Given the description of an element on the screen output the (x, y) to click on. 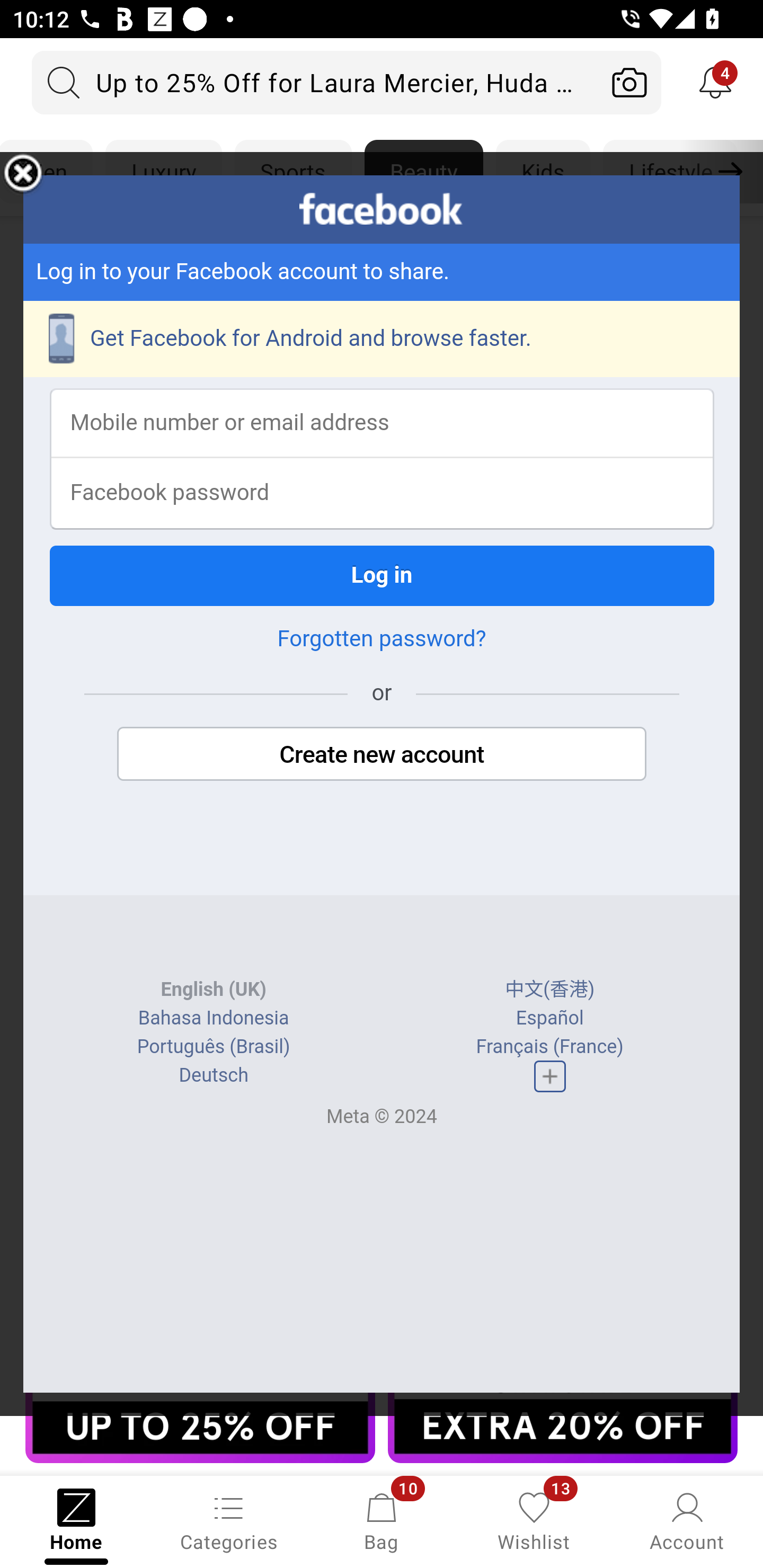
facebook (381, 208)
Get Facebook for Android and browse faster. (381, 339)
Log in (381, 575)
Forgotten password? (381, 638)
Create new account (381, 753)
中文(香港) (550, 989)
Bahasa Indonesia (214, 1018)
Español (549, 1018)
Português (Brasil) (212, 1046)
Français (France) (549, 1046)
Complete list of languages (548, 1075)
Deutsch (212, 1075)
